Given the description of an element on the screen output the (x, y) to click on. 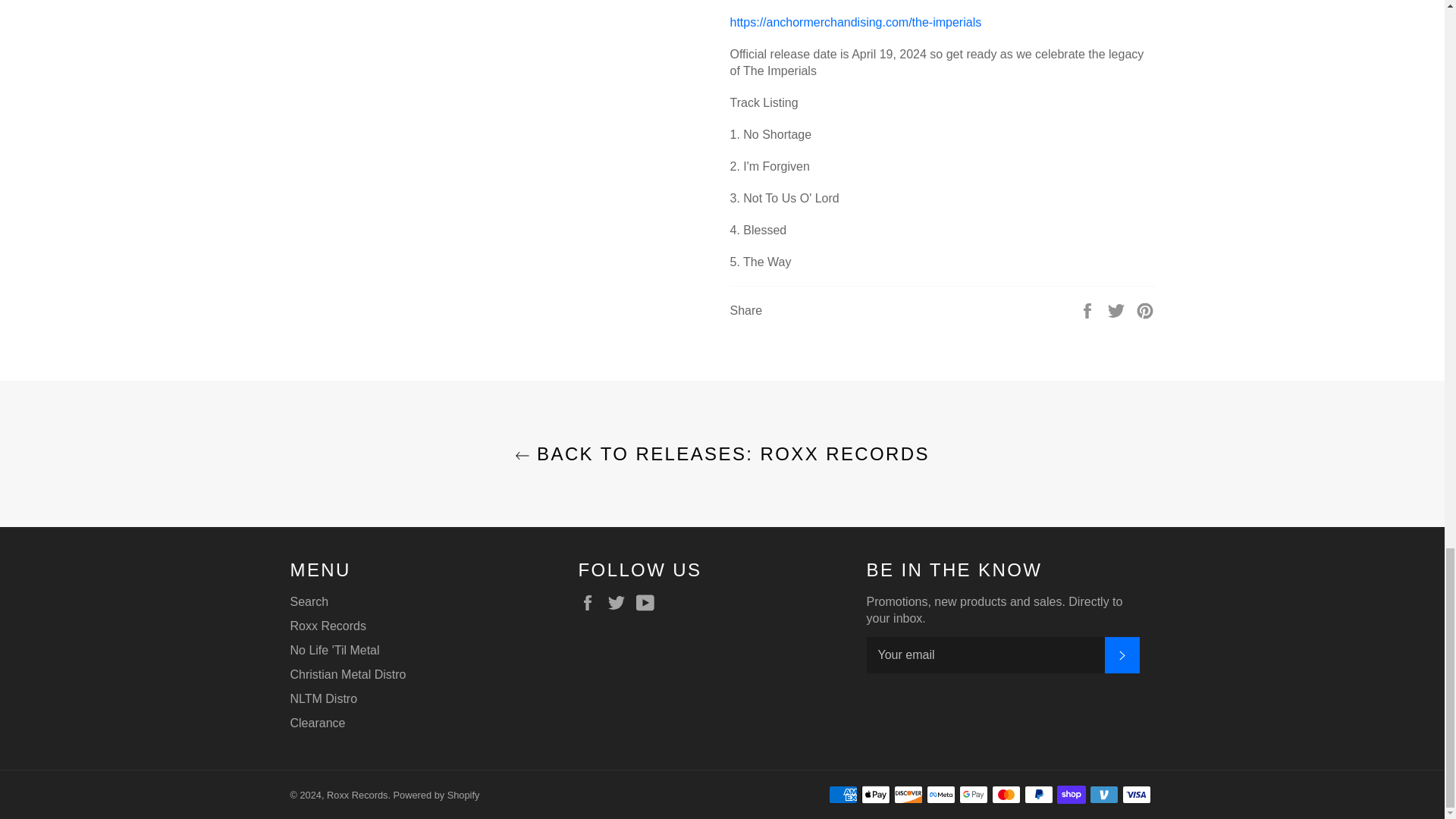
Pin on Pinterest (1144, 309)
Tweet on Twitter (1117, 309)
Roxx Records on Facebook (591, 602)
Roxx Records on Twitter (620, 602)
Roxx Records on YouTube (649, 602)
Share on Facebook (1088, 309)
